Given the description of an element on the screen output the (x, y) to click on. 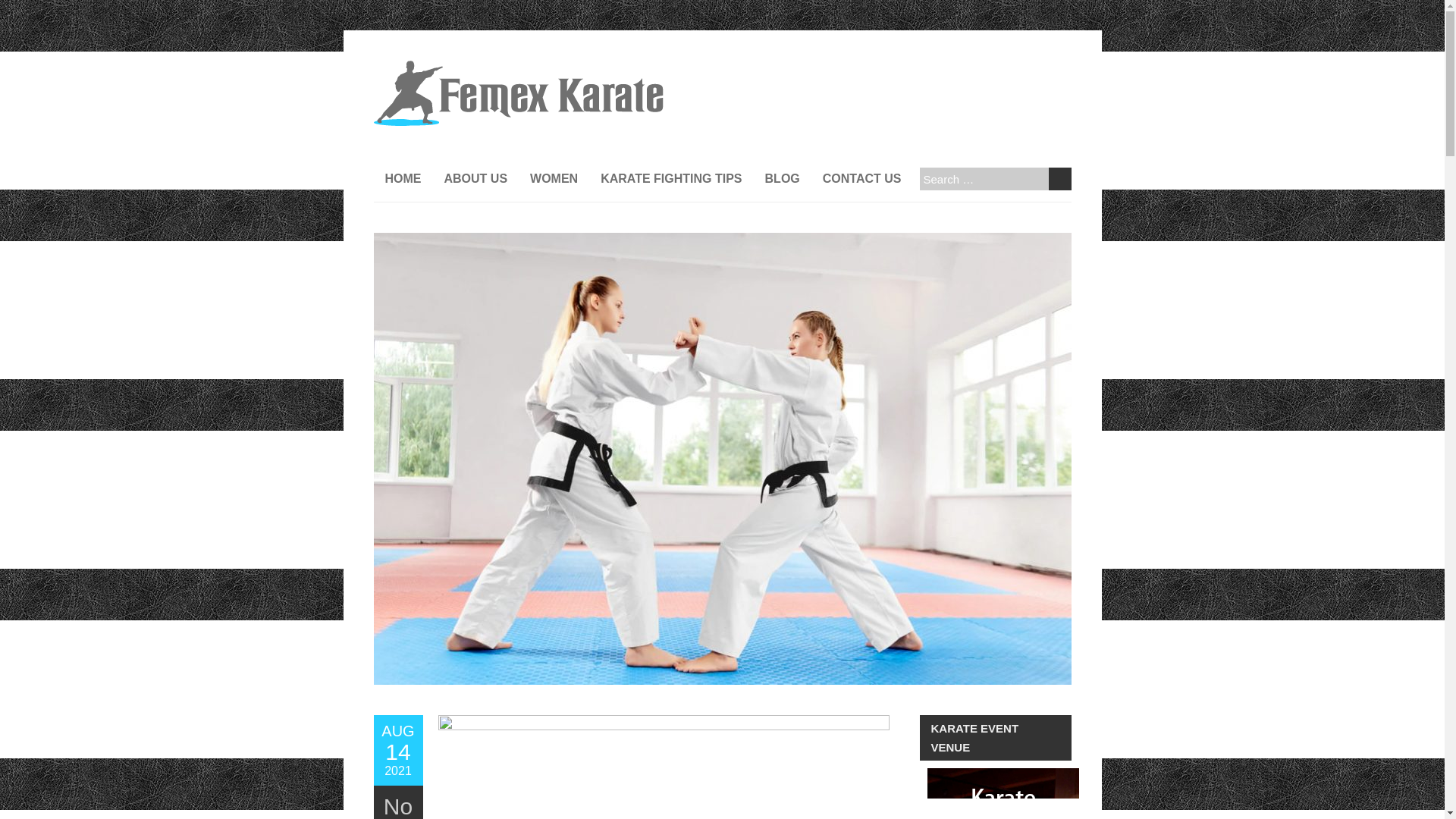
No (397, 806)
HOME (402, 178)
BLOG (782, 178)
Femex Karate: Martial Arts Training Center (517, 68)
Search (1059, 178)
WOMEN (553, 178)
ABOUT US (397, 750)
Search (475, 178)
KARATE FIGHTING TIPS (1059, 178)
Karate Event Venue (670, 178)
Search (1002, 793)
CONTACT US (1059, 178)
